Given the description of an element on the screen output the (x, y) to click on. 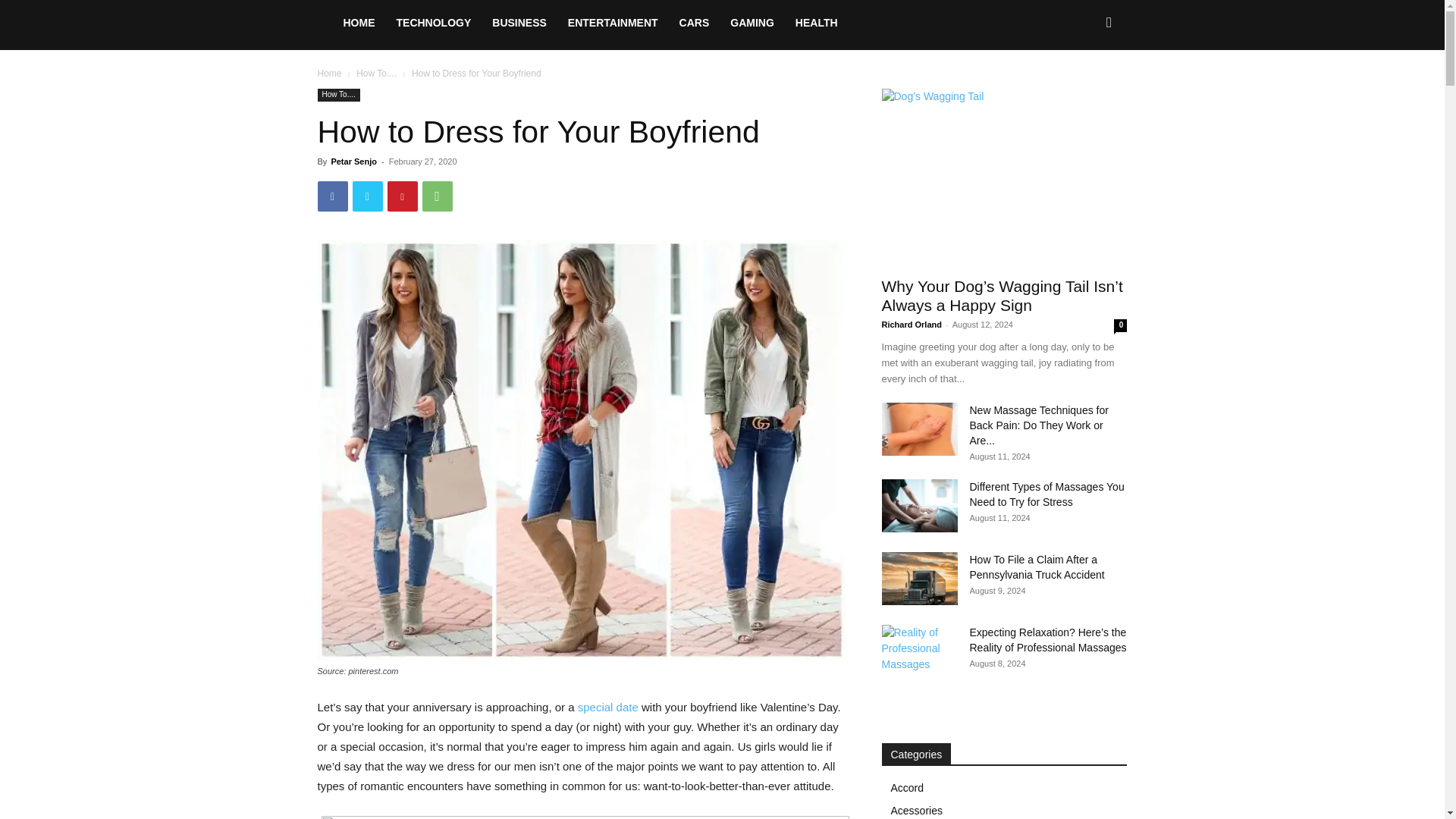
GAMING (751, 22)
TECHNOLOGY (433, 22)
special date (608, 707)
HEALTH (816, 22)
Twitter (366, 195)
HOME (358, 22)
View all posts in How To.... (376, 72)
Petar Senjo (353, 161)
WhatsApp (436, 195)
Search (1085, 87)
